Given the description of an element on the screen output the (x, y) to click on. 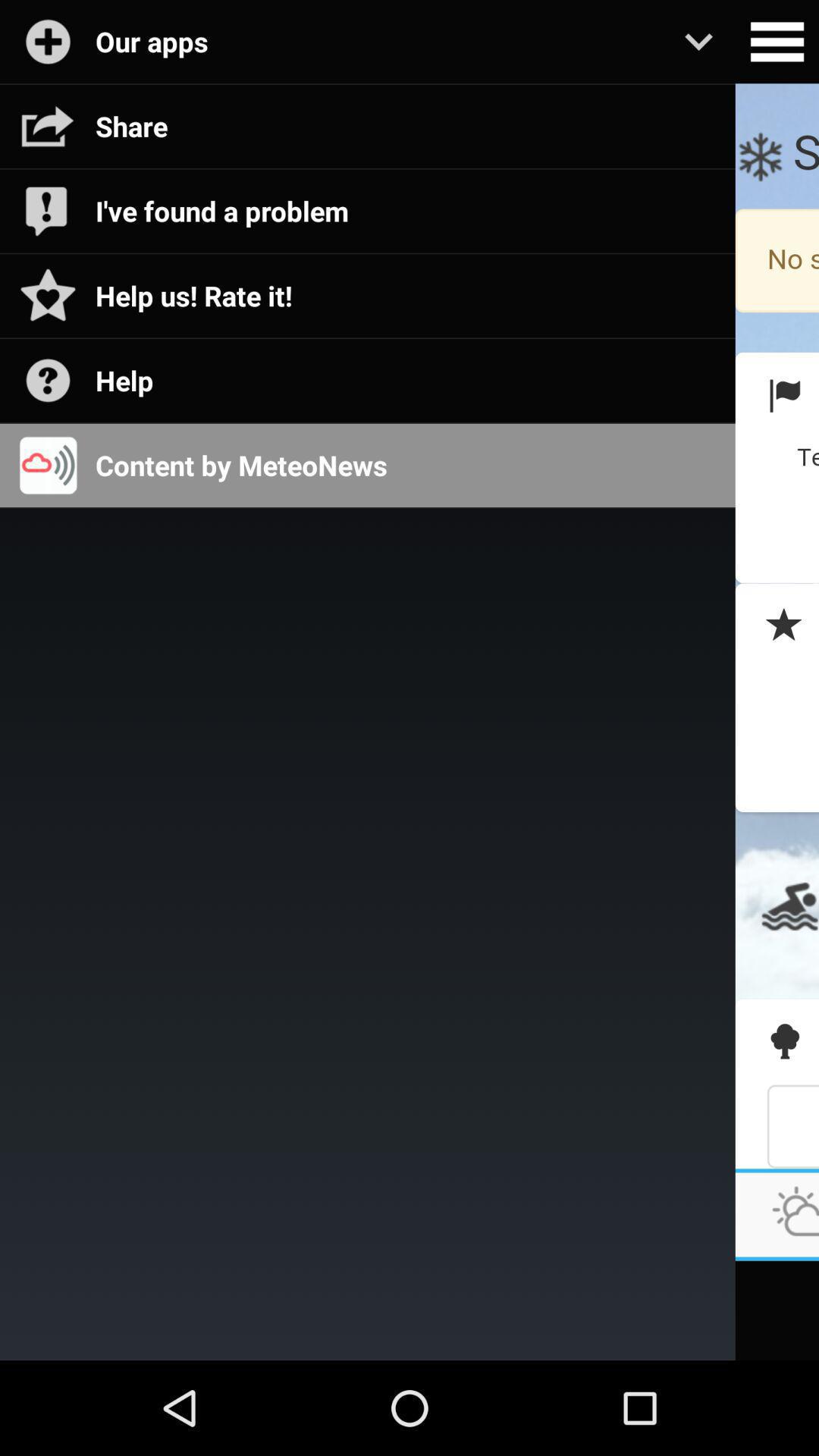
go to customise (777, 41)
